Given the description of an element on the screen output the (x, y) to click on. 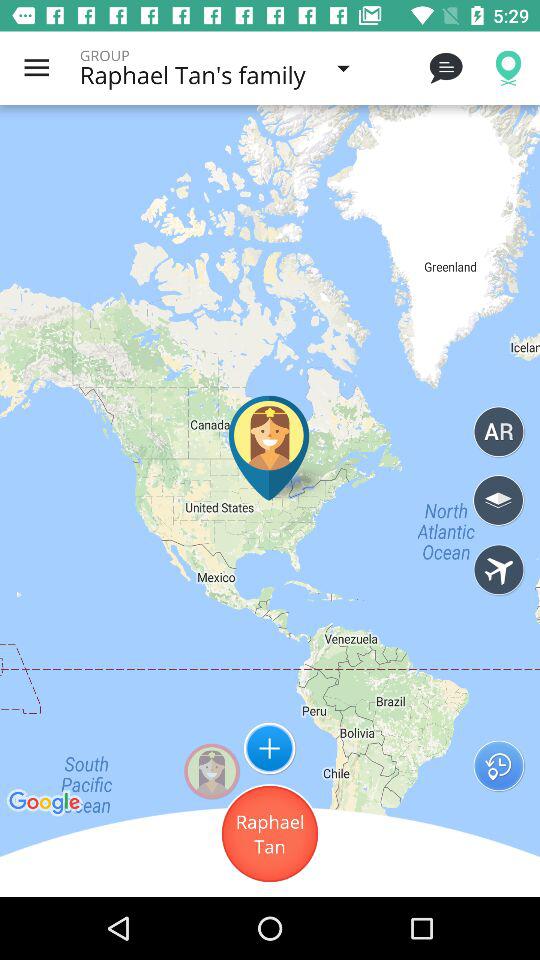
3d view (498, 500)
